Given the description of an element on the screen output the (x, y) to click on. 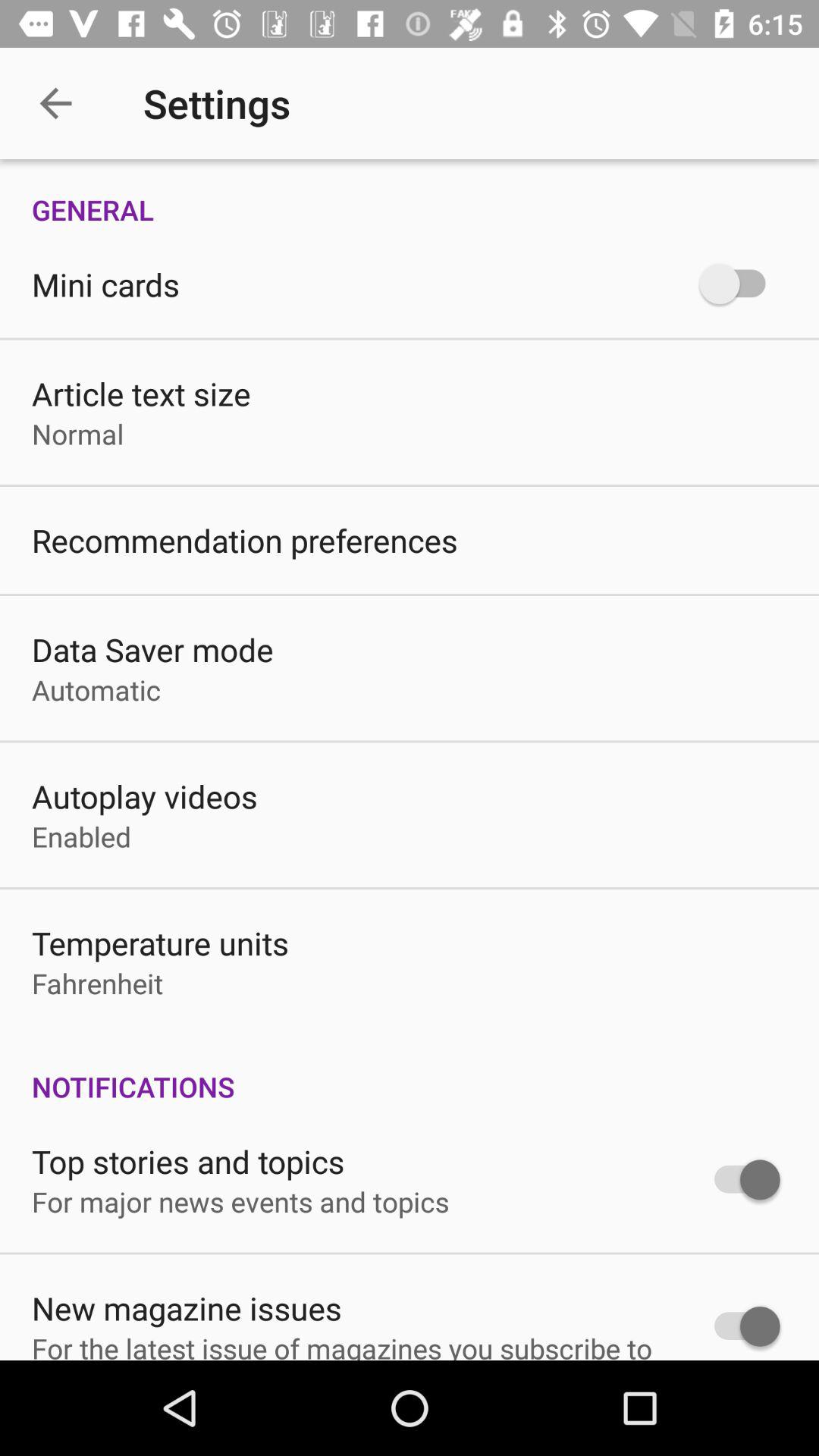
launch data saver mode item (152, 649)
